Given the description of an element on the screen output the (x, y) to click on. 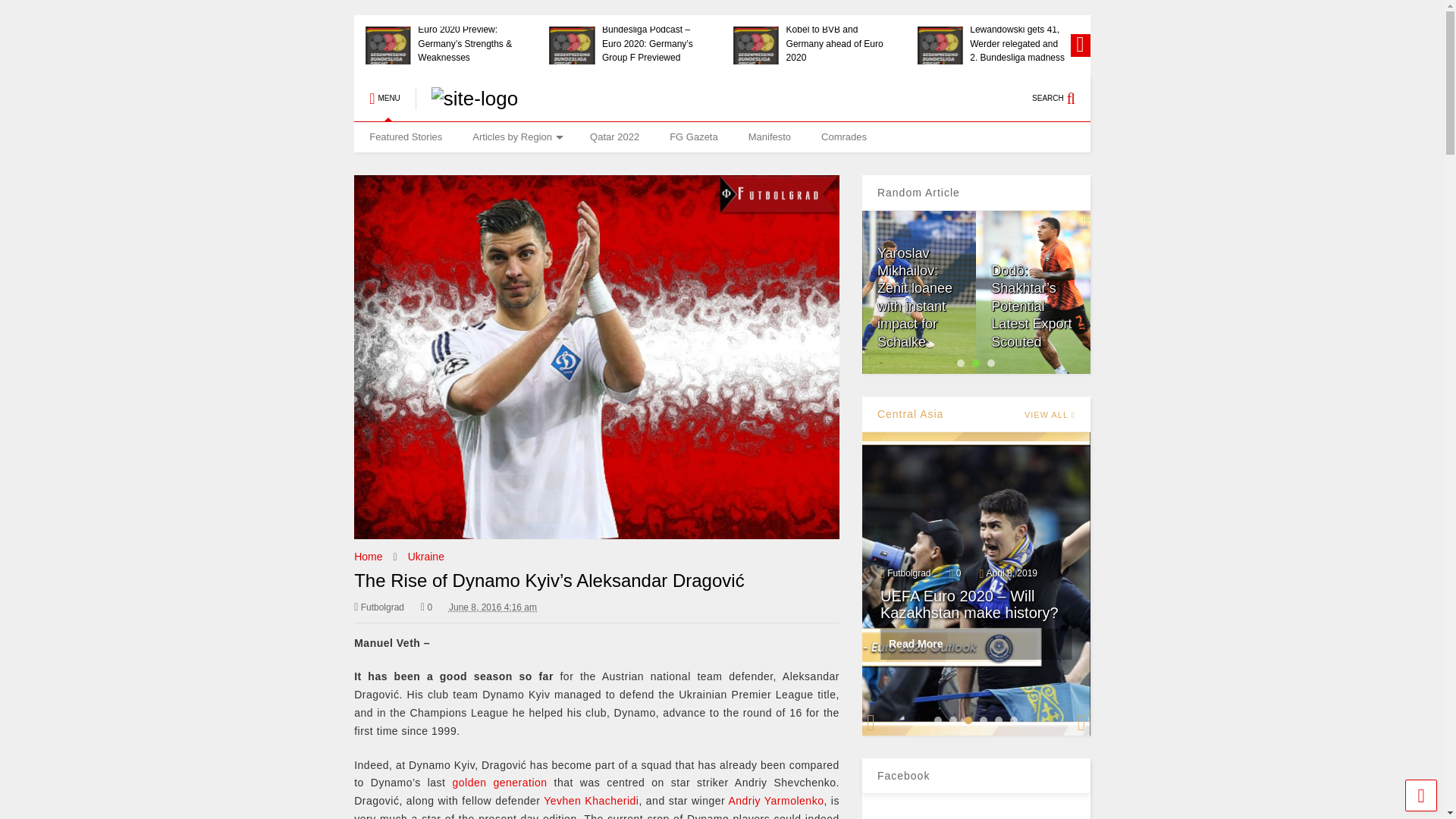
MENU (383, 98)
SEARCH (1061, 98)
Featured Stories (405, 137)
Articles by Region (516, 137)
